Given the description of an element on the screen output the (x, y) to click on. 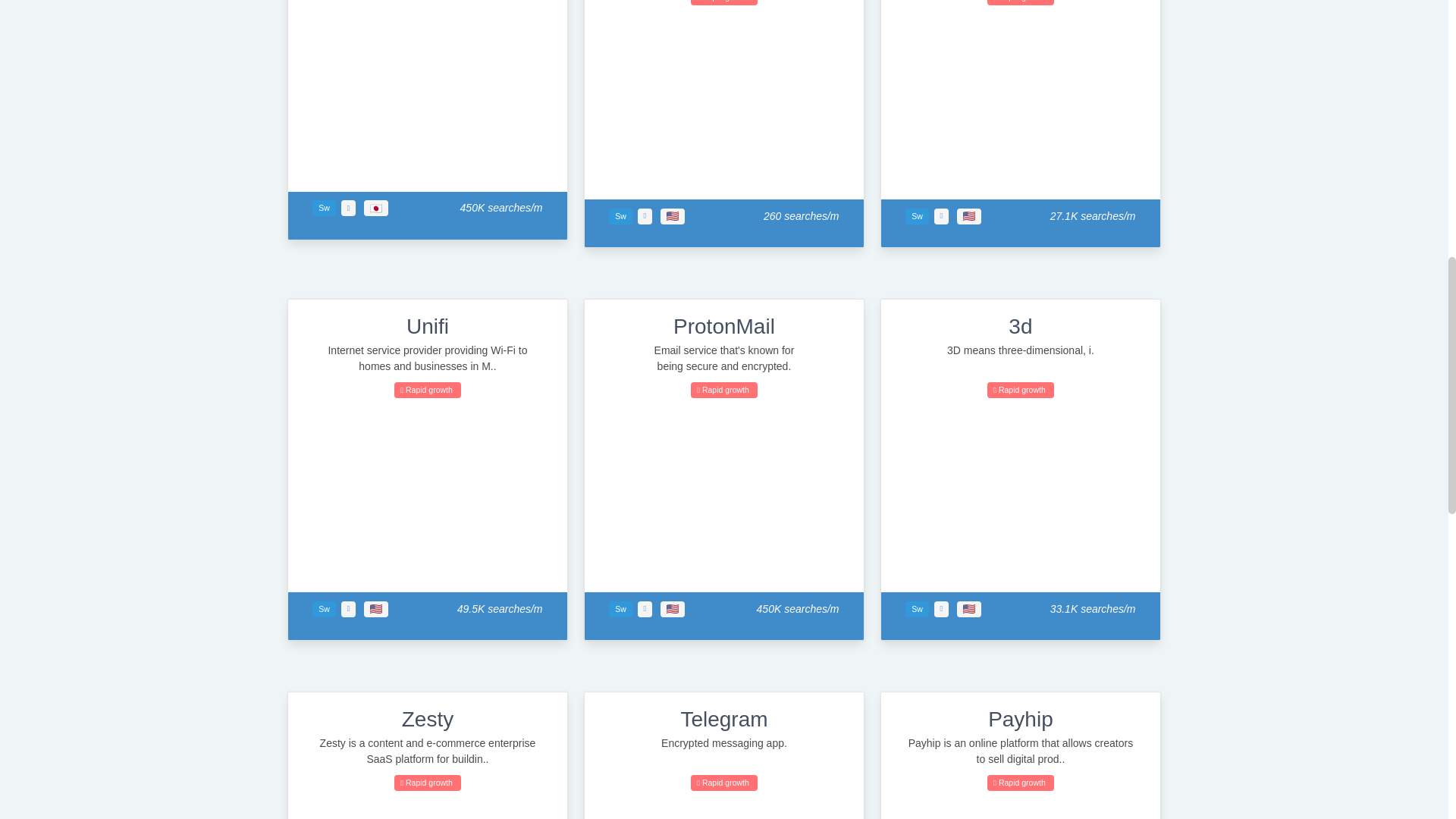
Telegram (723, 719)
ProtonMail (723, 326)
3d (1020, 326)
Unifi (427, 326)
Zesty (426, 719)
